Given the description of an element on the screen output the (x, y) to click on. 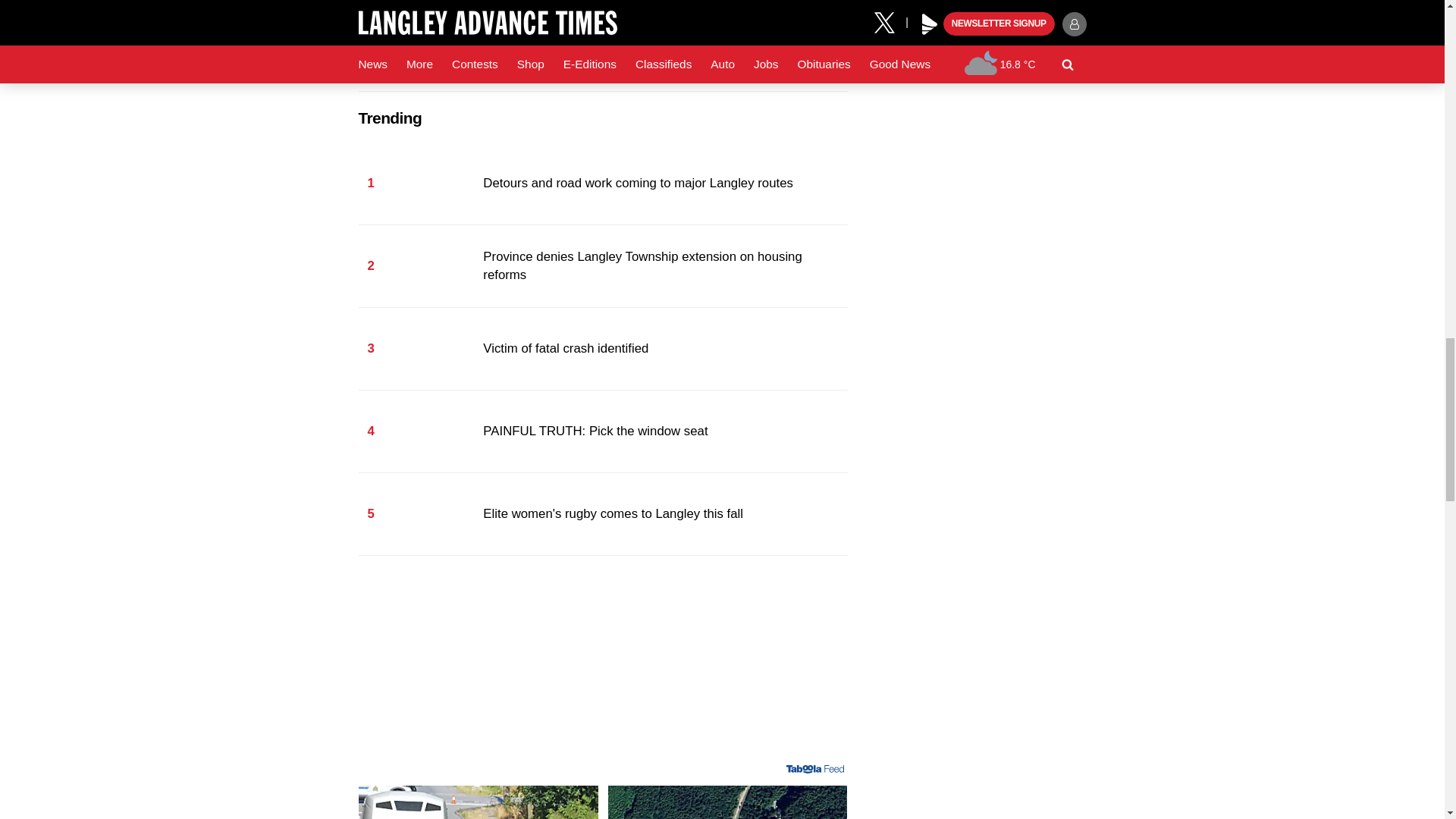
3rd party ad content (602, 665)
